Given the description of an element on the screen output the (x, y) to click on. 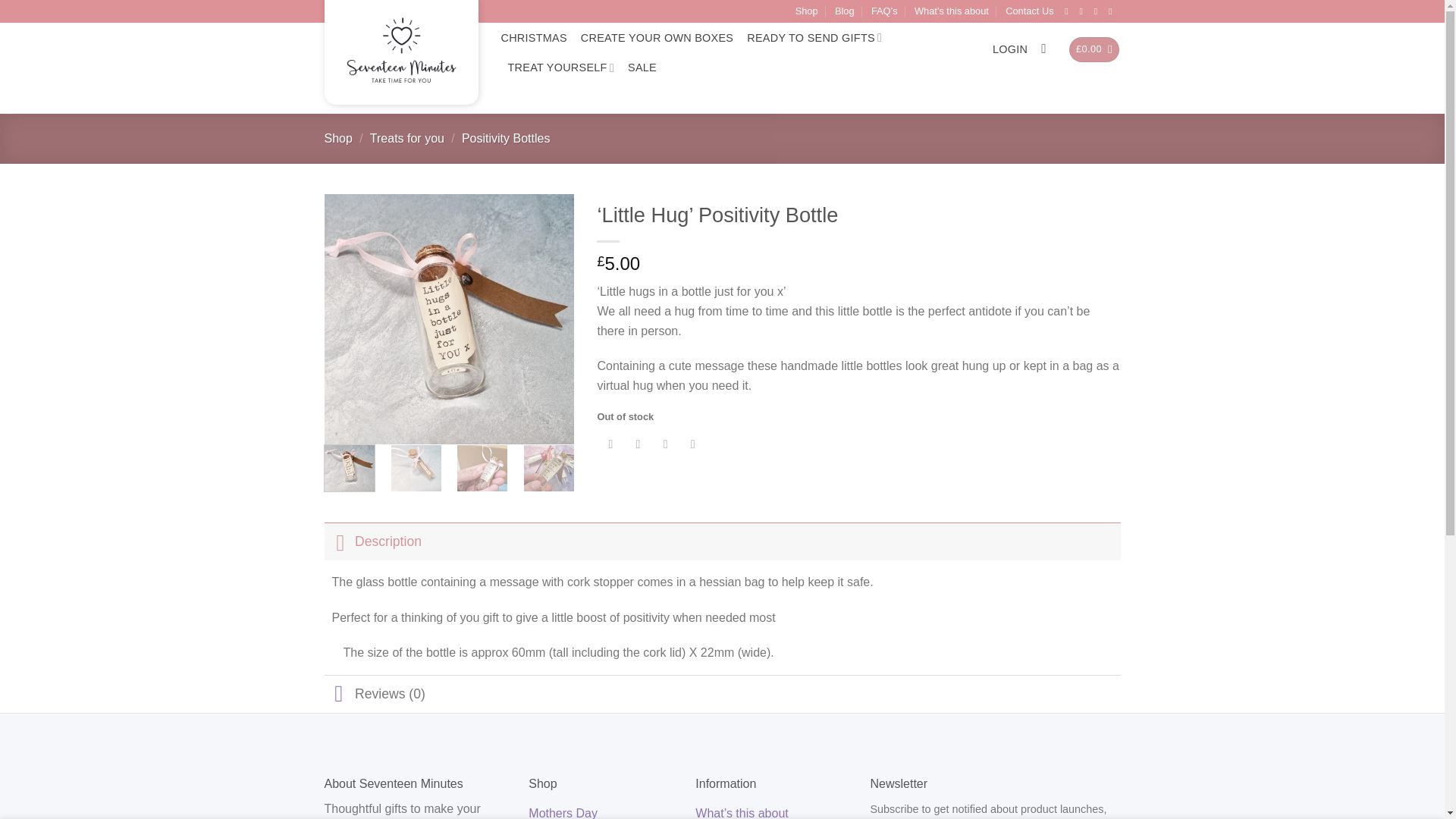
'Little Hug' Positivity Bottle 1 (449, 319)
Contact Us (1029, 11)
READY TO SEND GIFTS (814, 37)
Shop (338, 137)
'Little Hug' Positivity Bottle 8 (481, 470)
Shop (806, 11)
CREATE YOUR OWN BOXES (656, 37)
'Little Hug' Positivity Bottle 7 (416, 470)
TREAT YOURSELF (561, 67)
'Little Hug' Positivity Bottle 10 (614, 470)
